Given the description of an element on the screen output the (x, y) to click on. 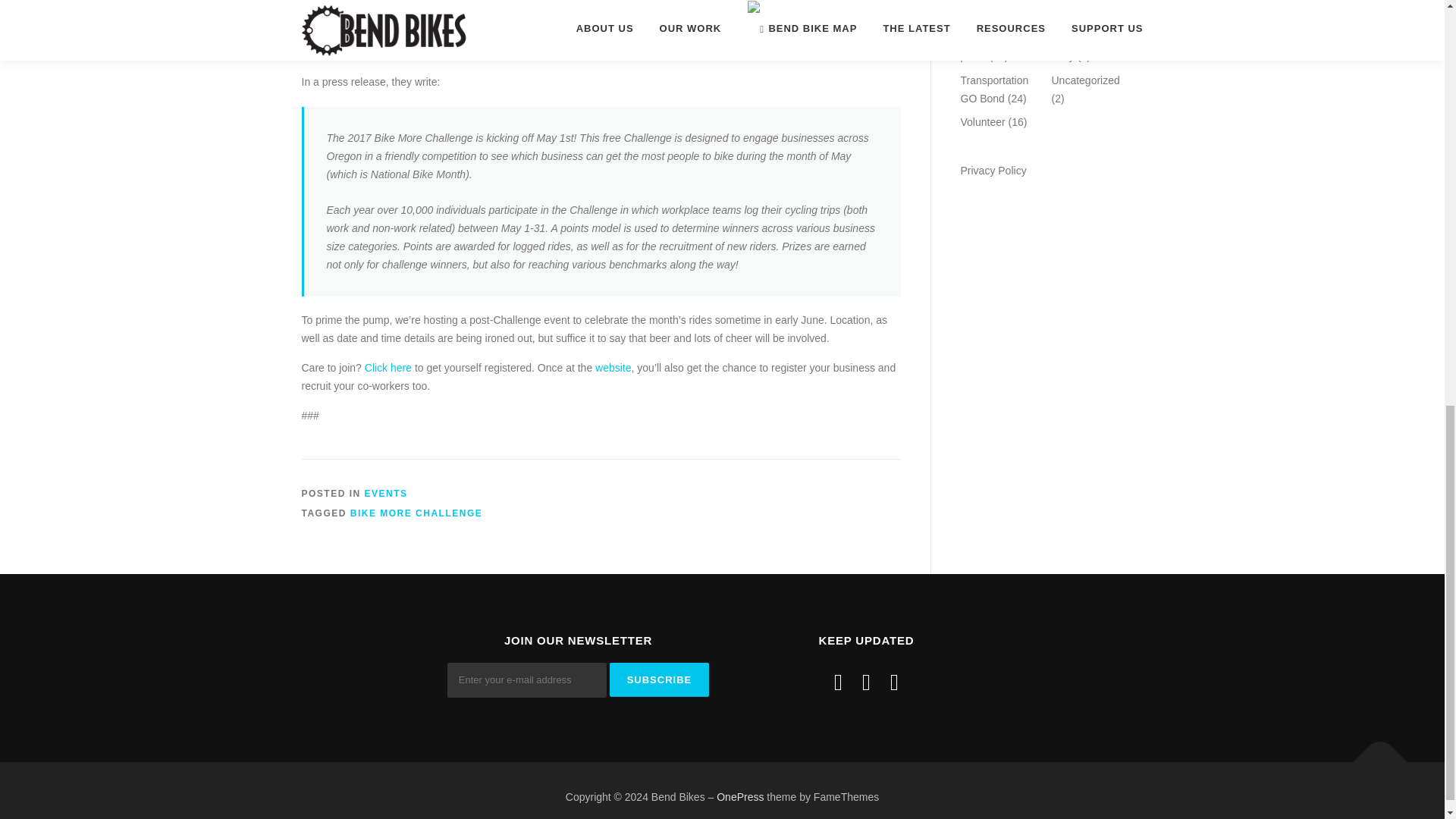
website (612, 367)
Subscribe (660, 679)
EVENTS (386, 493)
BIKE MORE CHALLENGE (416, 512)
Back To Top (1372, 753)
Click here (388, 367)
